Given the description of an element on the screen output the (x, y) to click on. 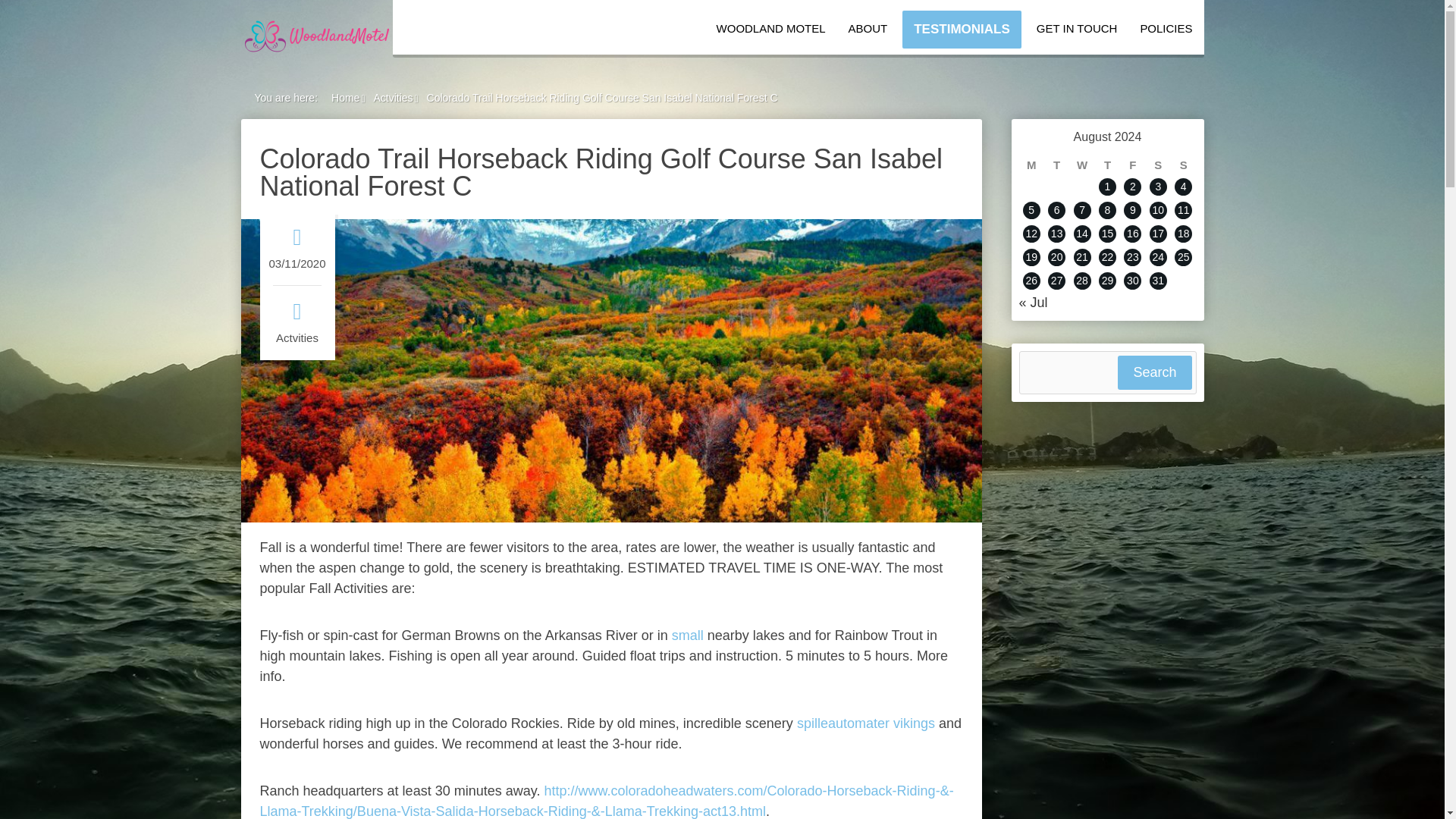
ABOUT (868, 28)
TESTIMONIALS (962, 29)
Actvities (392, 97)
Actvities (297, 337)
Monday (1031, 164)
Sunday (1182, 164)
Search (1154, 372)
small (687, 635)
WOODLAND MOTEL (770, 28)
Wednesday (1081, 164)
